Given the description of an element on the screen output the (x, y) to click on. 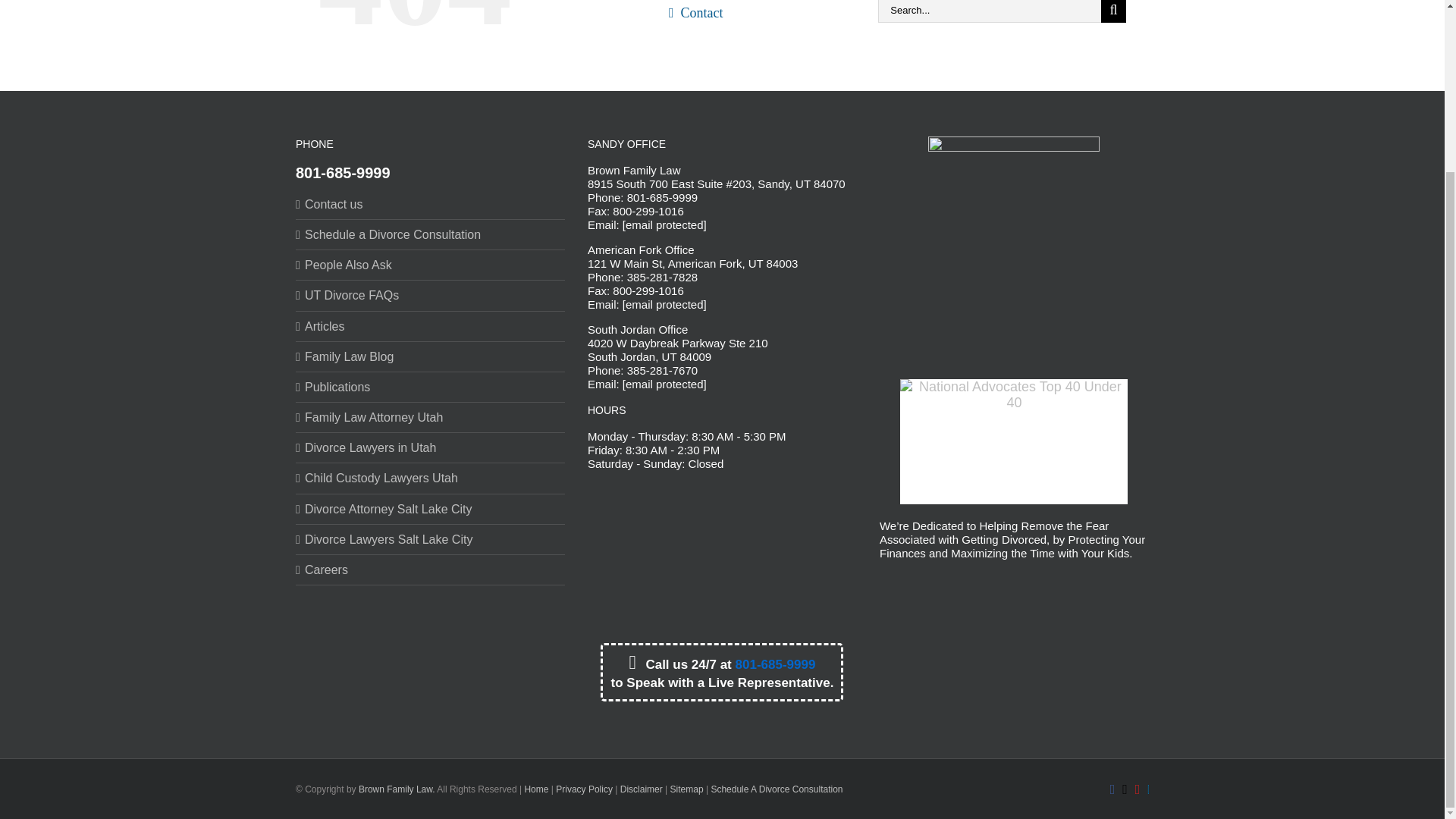
Schedule a Divorce Consultation (430, 234)
People Also Ask (430, 264)
Family Law Blog (430, 356)
Divorce Lawyers in Utah (430, 447)
Divorce Attorney Salt Lake City (430, 509)
Contact us (430, 204)
Publications (430, 386)
FAQ (753, 2)
UT Divorce FAQs (430, 295)
Articles (430, 326)
